Given the description of an element on the screen output the (x, y) to click on. 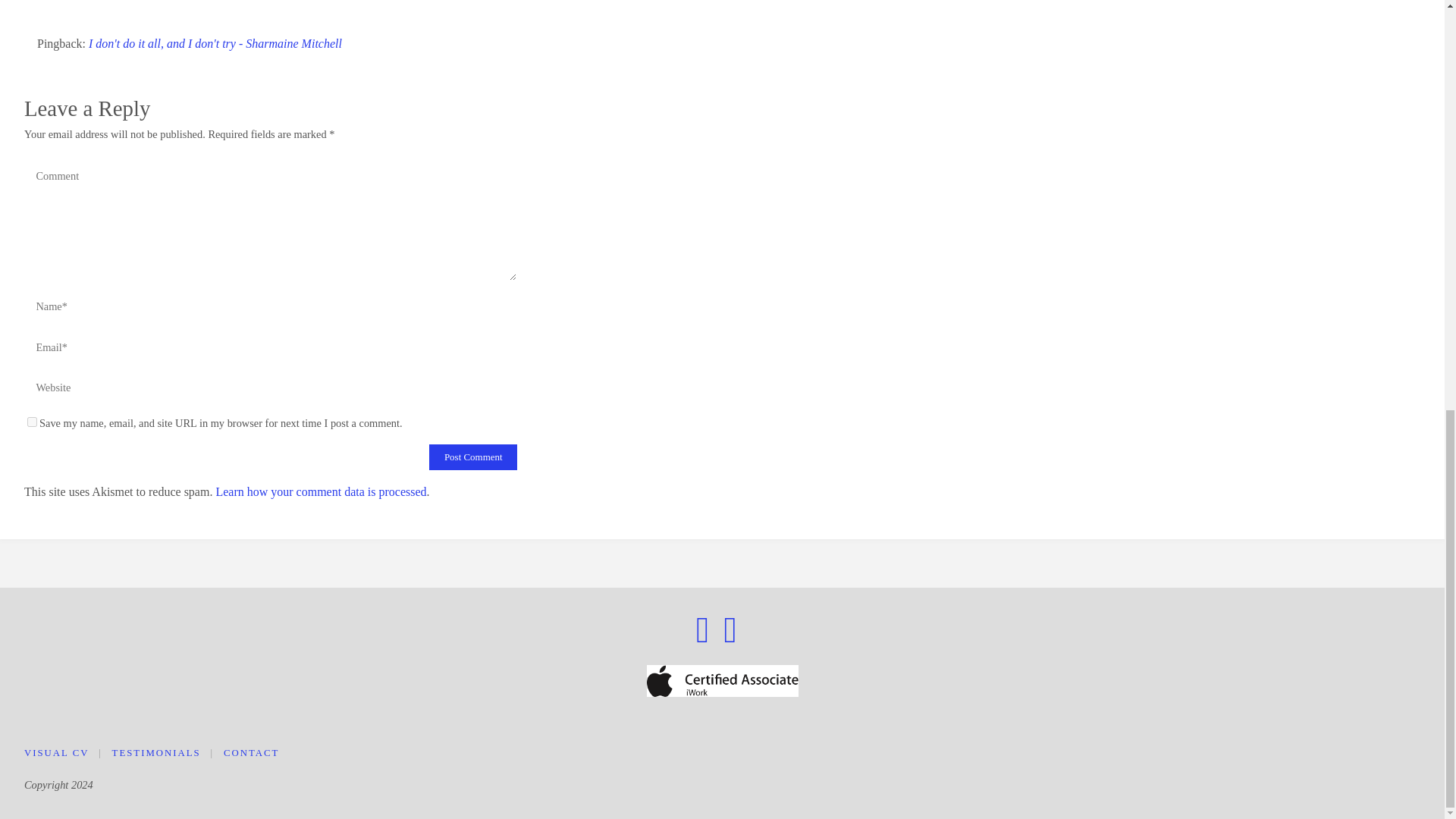
I don't do it all, and I don't try - Sharmaine Mitchell (215, 42)
yes (32, 421)
VISUAL CV (56, 752)
Post Comment (472, 457)
CONTACT (251, 752)
Post Comment (472, 457)
TESTIMONIALS (156, 752)
Learn how your comment data is processed (320, 491)
